Given the description of an element on the screen output the (x, y) to click on. 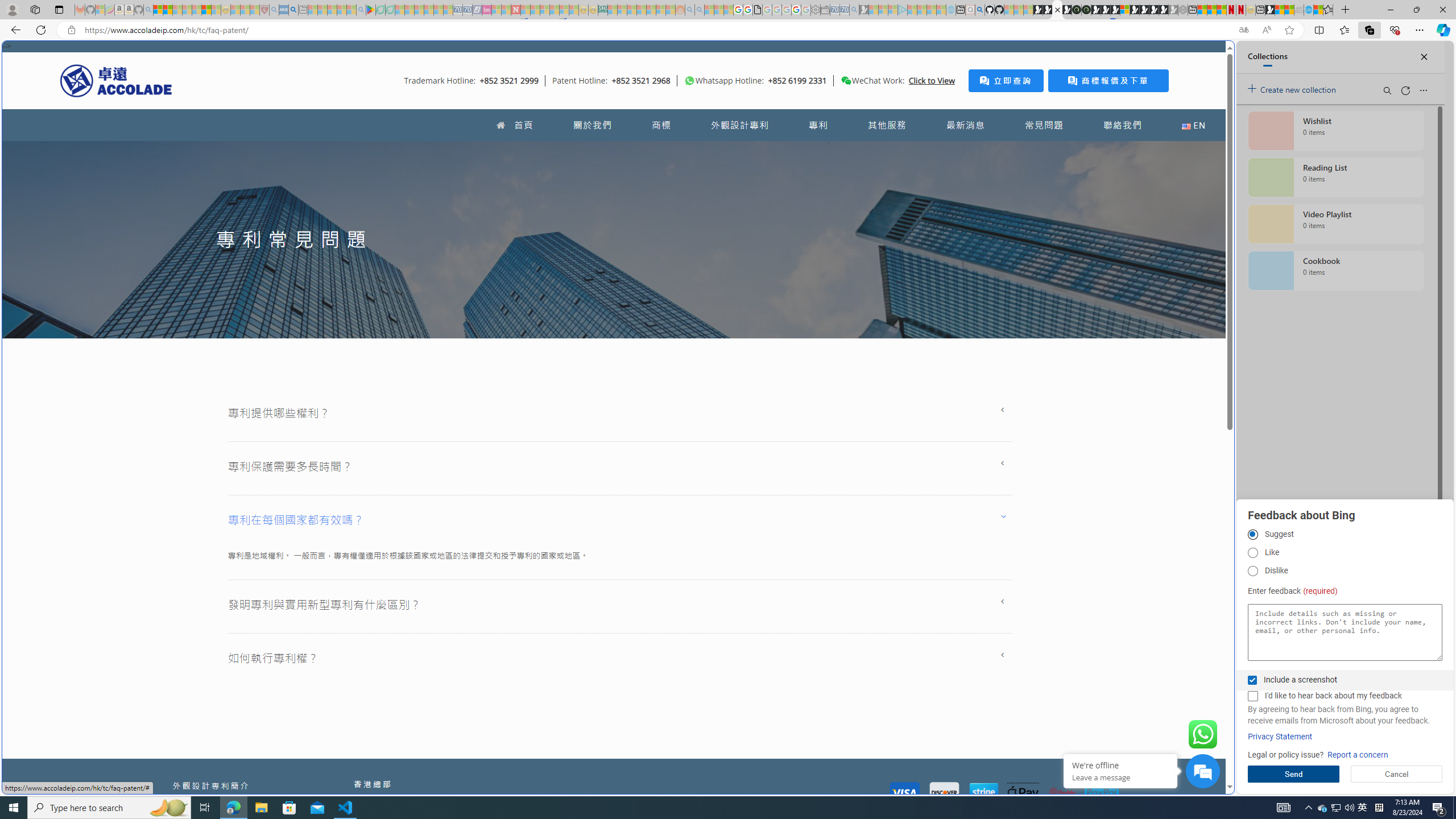
Tabs you've opened (885, 151)
